Given the description of an element on the screen output the (x, y) to click on. 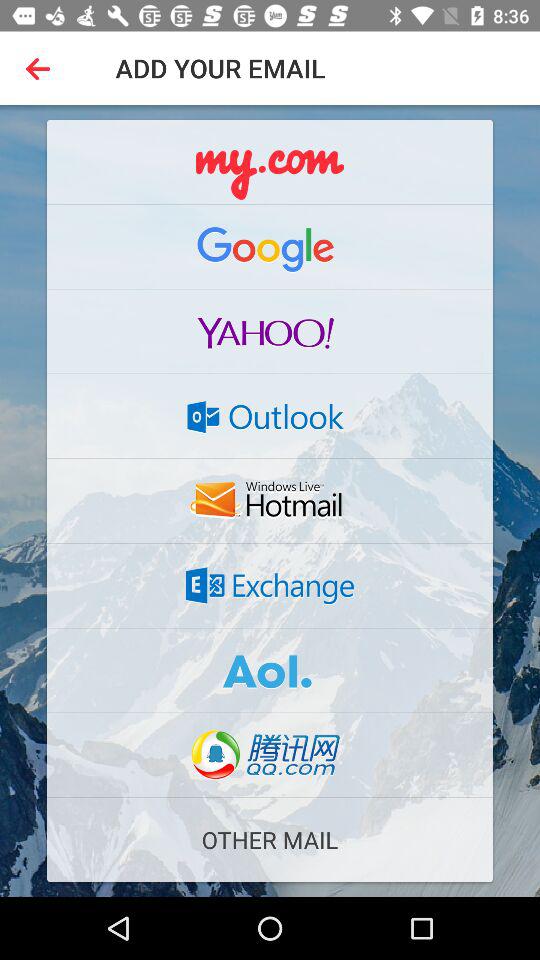
click the my.com (269, 162)
